Given the description of an element on the screen output the (x, y) to click on. 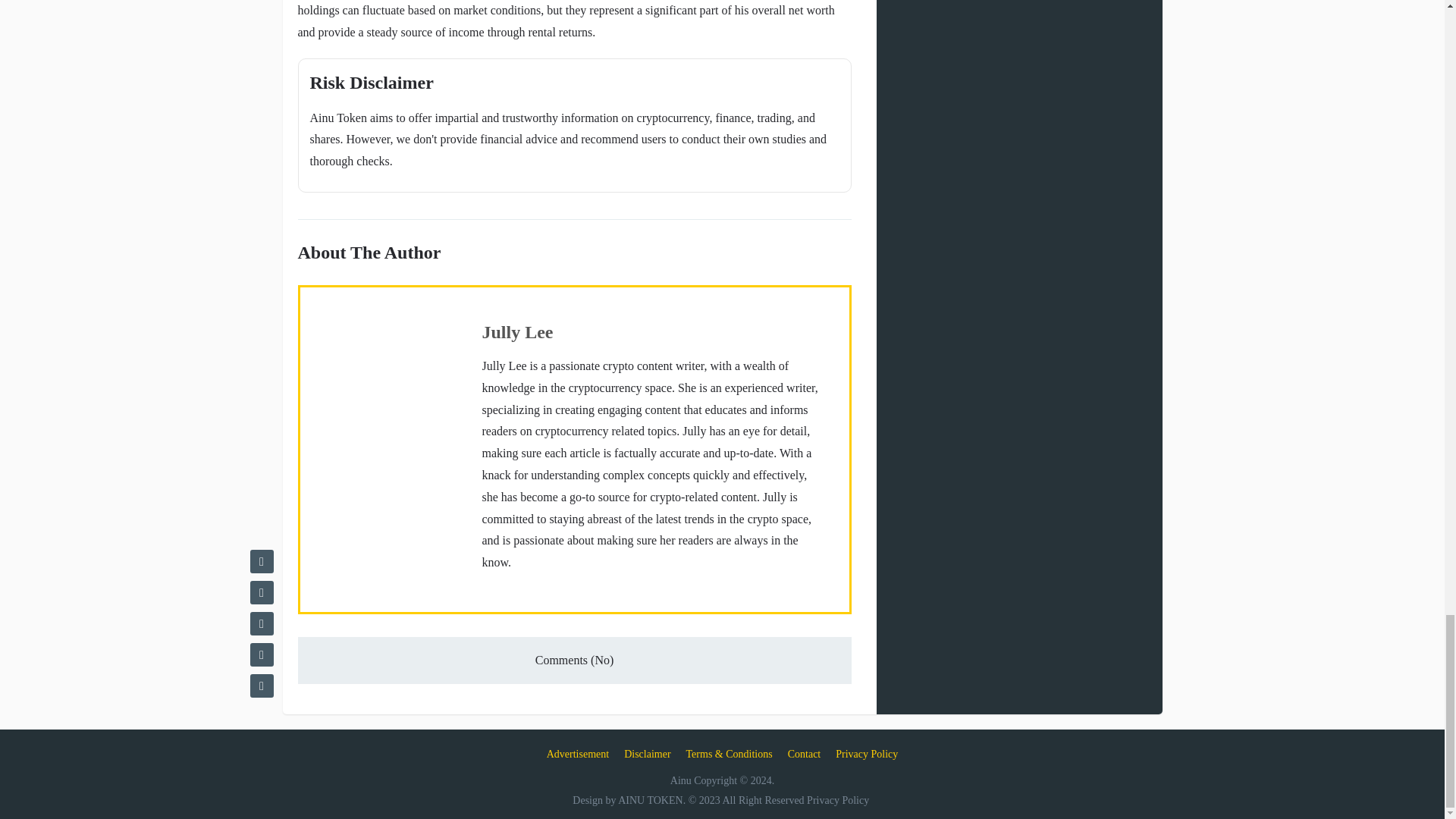
noopener noreferrer nofollow (729, 754)
noopener noreferrer nofollow (866, 754)
